Given the description of an element on the screen output the (x, y) to click on. 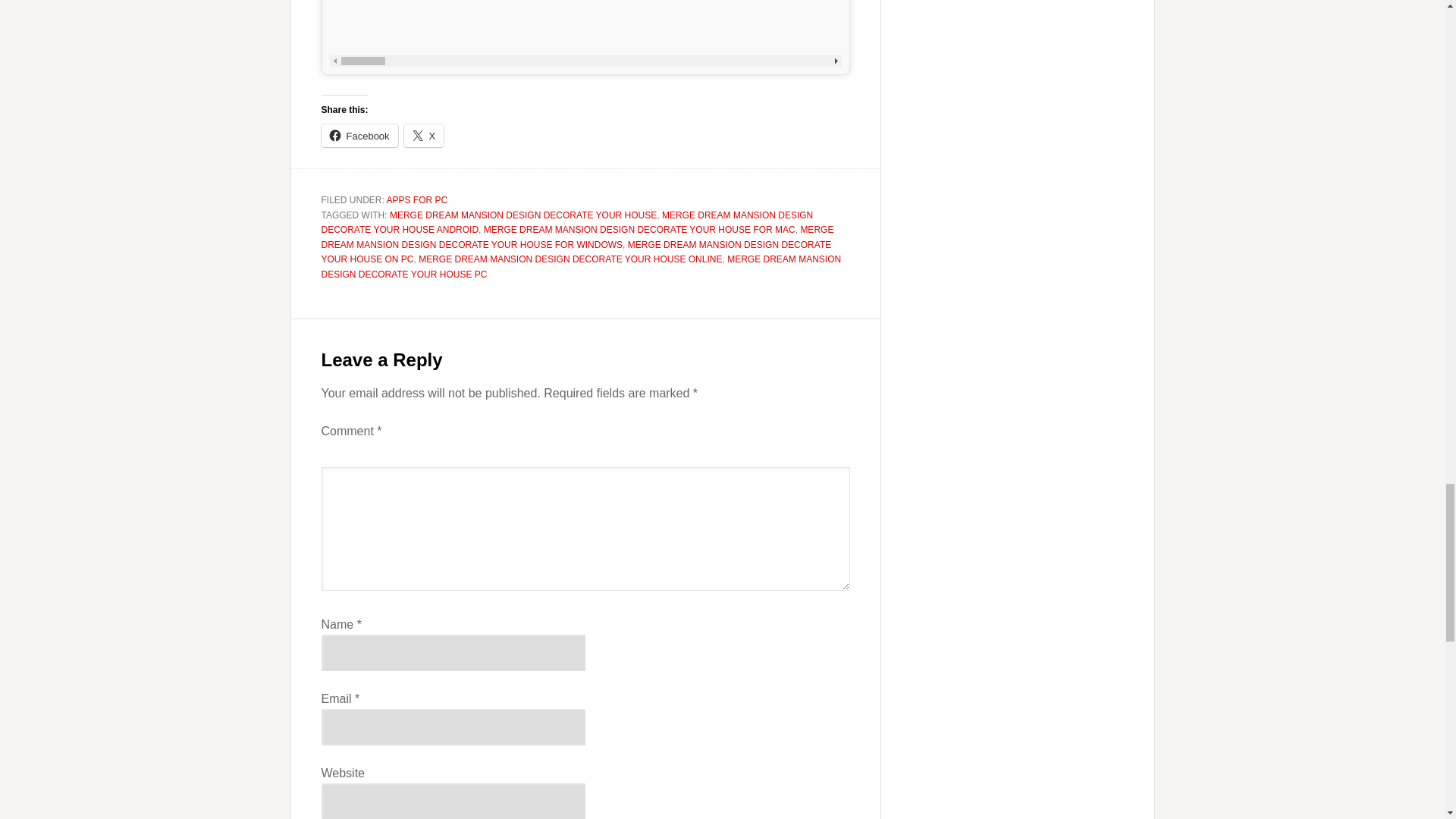
MERGE DREAM MANSION DESIGN DECORATE YOUR HOUSE ONLINE (570, 258)
X (424, 135)
MERGE DREAM MANSION DESIGN DECORATE YOUR HOUSE ANDROID (567, 222)
MERGE DREAM MANSION DESIGN DECORATE YOUR HOUSE (523, 214)
MERGE DREAM MANSION DESIGN DECORATE YOUR HOUSE PC (581, 266)
MERGE DREAM MANSION DESIGN DECORATE YOUR HOUSE ON PC (576, 252)
APPS FOR PC (417, 199)
MERGE DREAM MANSION DESIGN DECORATE YOUR HOUSE FOR WINDOWS (577, 237)
MERGE DREAM MANSION DESIGN DECORATE YOUR HOUSE FOR MAC (638, 229)
Facebook (359, 135)
